Given the description of an element on the screen output the (x, y) to click on. 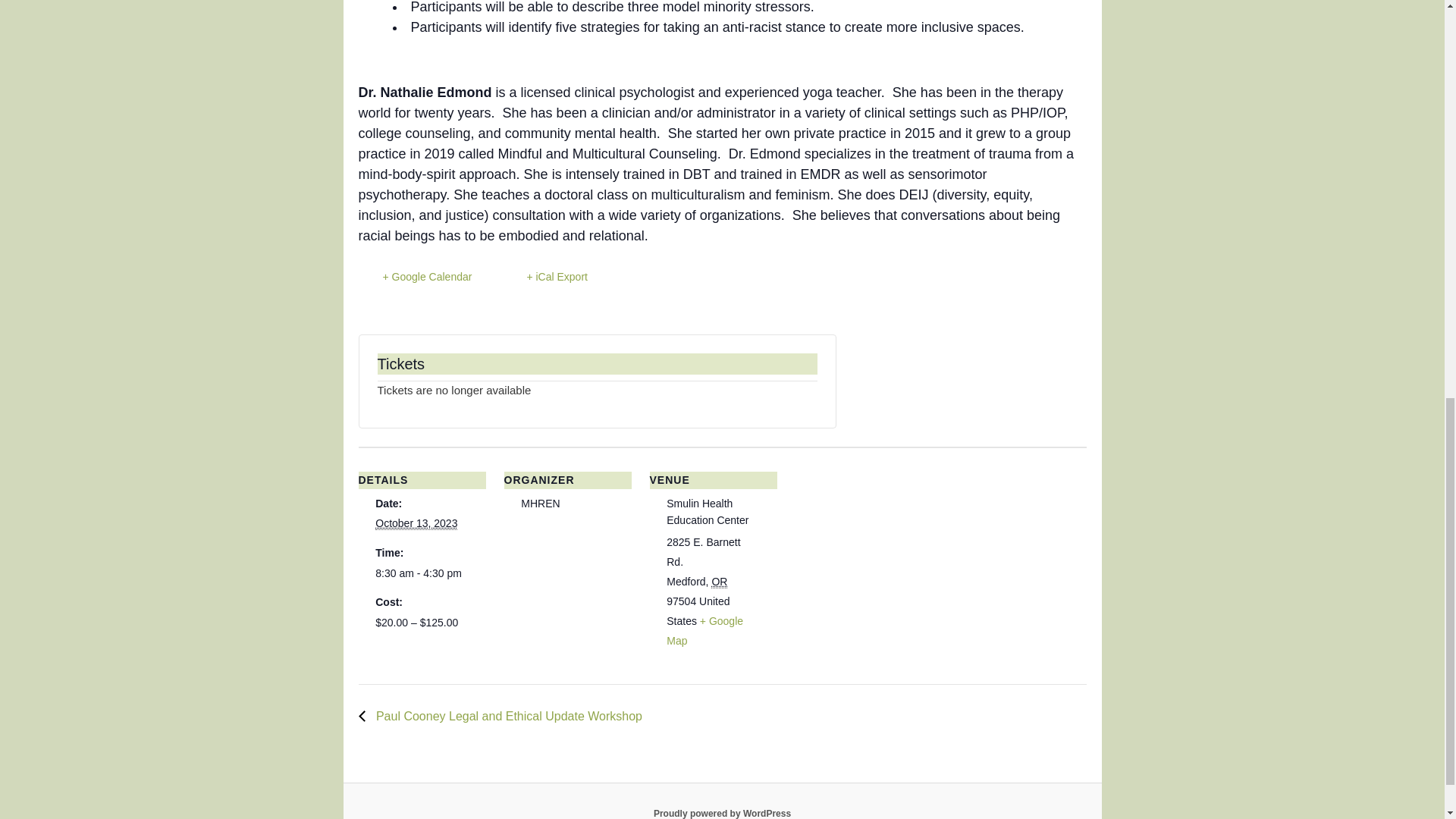
2023-10-13 (421, 573)
Download .ics file (545, 276)
Paul Cooney Legal and Ethical Update Workshop (503, 716)
Add to Google Calendar (414, 276)
2023-10-13 (416, 522)
Semantic Personal Publishing Platform (721, 813)
Oregon (718, 581)
Proudly powered by WordPress (721, 813)
Click to view a Google Map (704, 631)
